Given the description of an element on the screen output the (x, y) to click on. 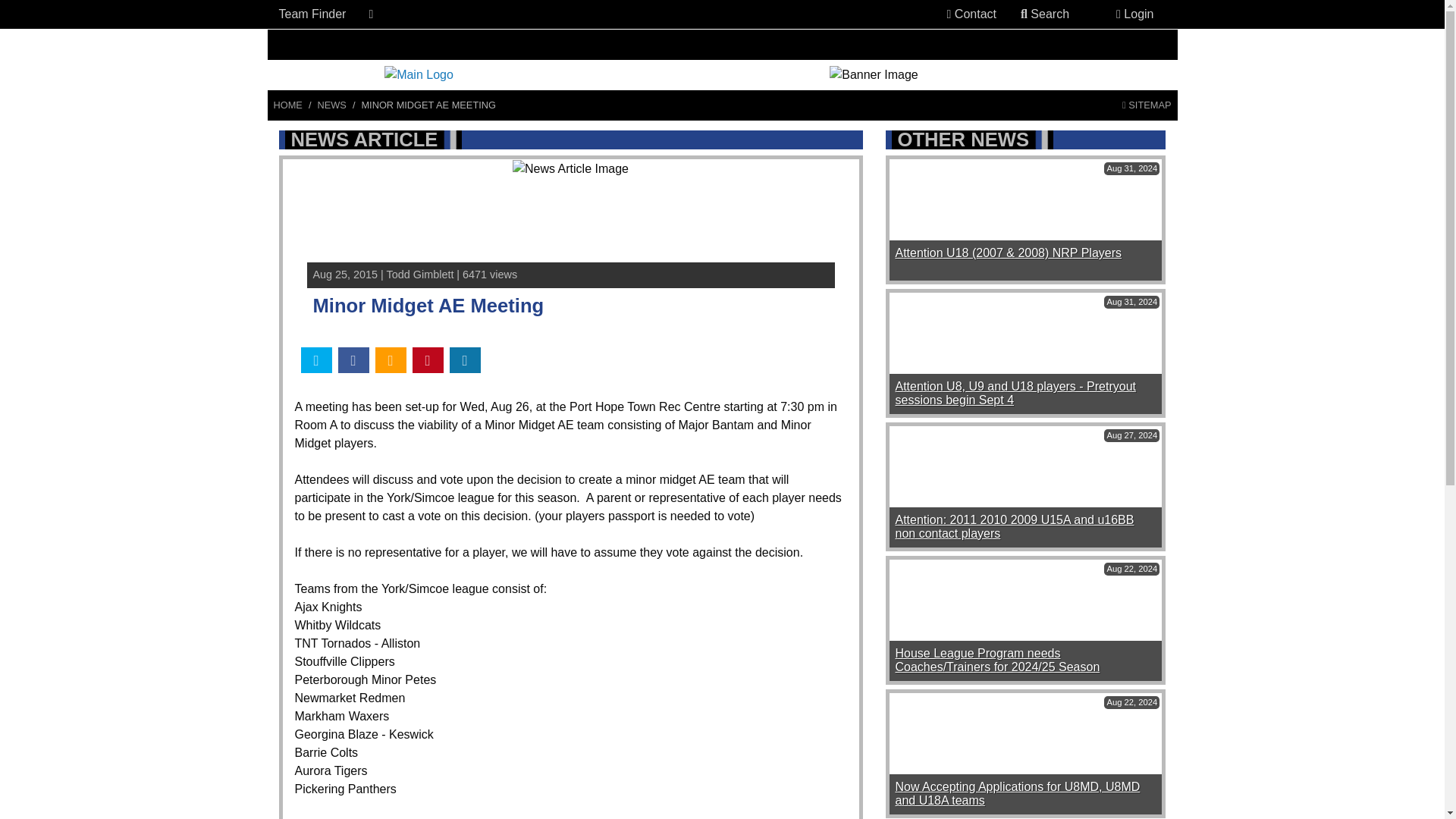
 Search (1045, 14)
 Contact (971, 14)
 Login (1134, 14)
Main Home Page (287, 104)
Team Finder (312, 13)
